Given the description of an element on the screen output the (x, y) to click on. 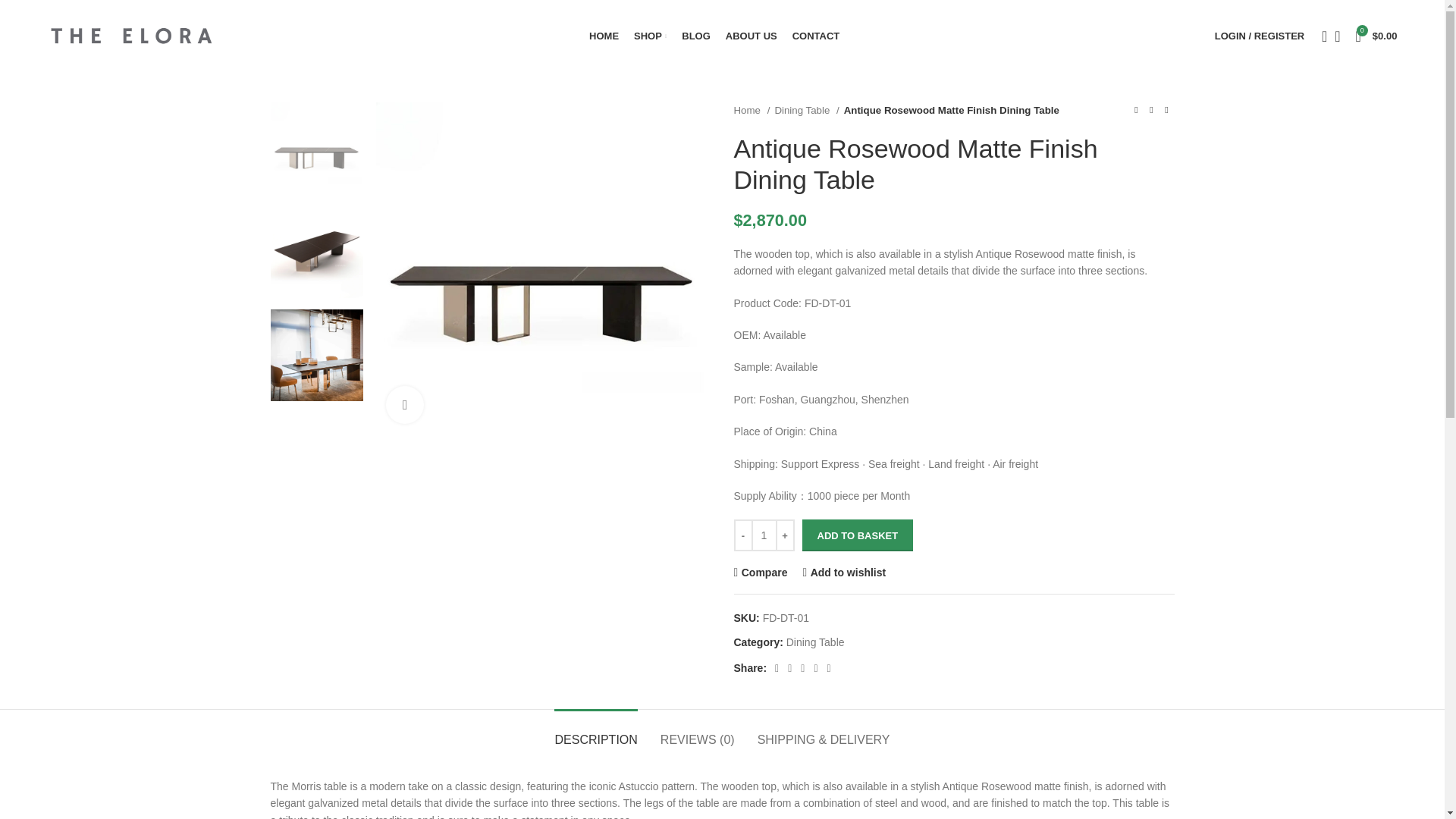
Search (1318, 36)
My Wishlist (1337, 36)
BLOG (695, 36)
1 (763, 535)
My account (1259, 36)
CONTACT (816, 36)
HOME (603, 36)
SHOP (649, 36)
Antique Rosewood matte finish (542, 268)
- (742, 535)
Home (751, 109)
Qty (763, 535)
Dining Table (806, 109)
Shopping cart (1376, 36)
ABOUT US (751, 36)
